Given the description of an element on the screen output the (x, y) to click on. 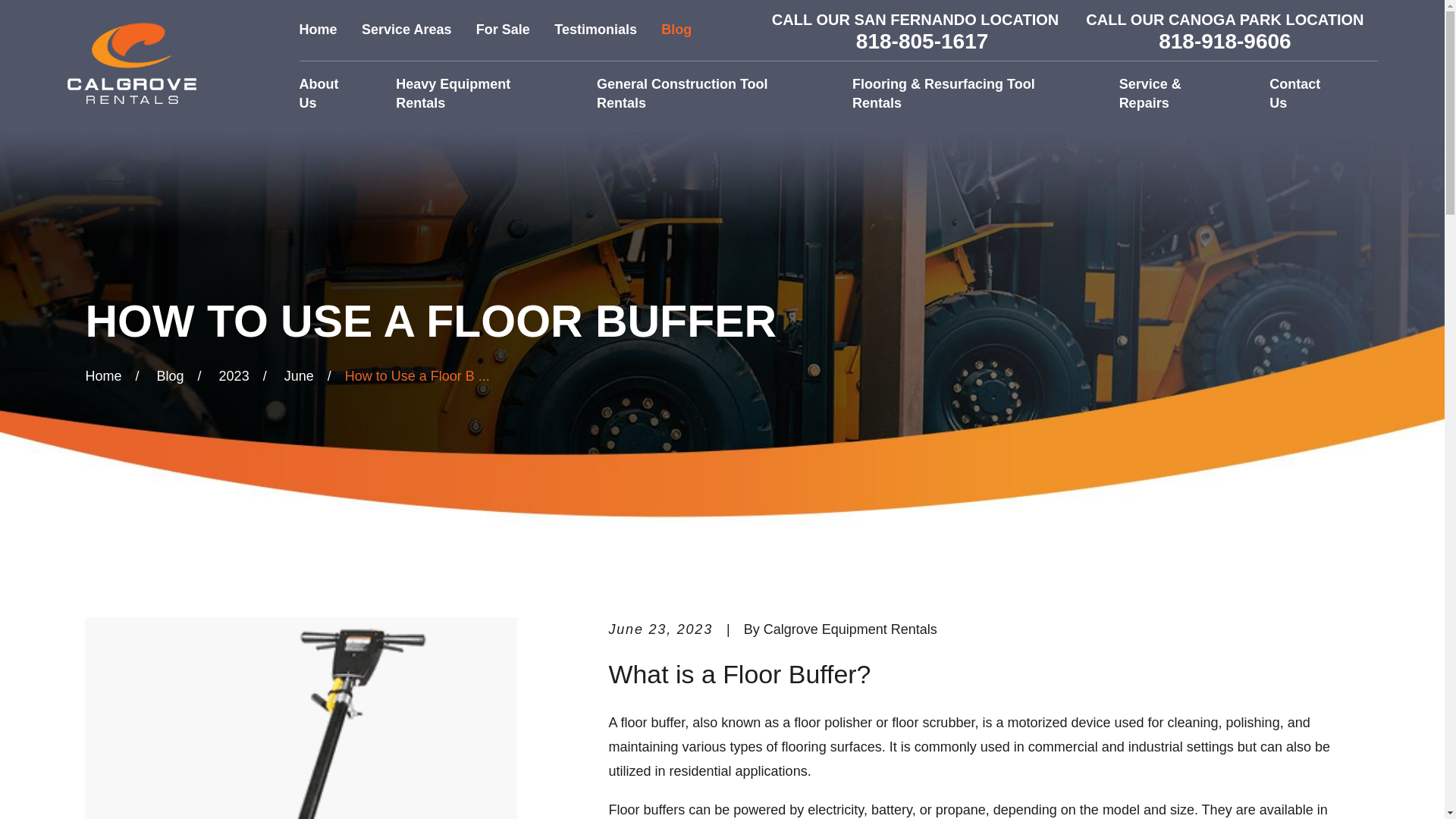
818-918-9606 (1224, 41)
818-805-1617 (922, 41)
About Us (328, 94)
Home (318, 29)
Home (130, 63)
Service Areas (406, 29)
Go Home (102, 376)
For Sale (502, 29)
Testimonials (595, 29)
Calgrove Equipment Rentals (130, 63)
